Given the description of an element on the screen output the (x, y) to click on. 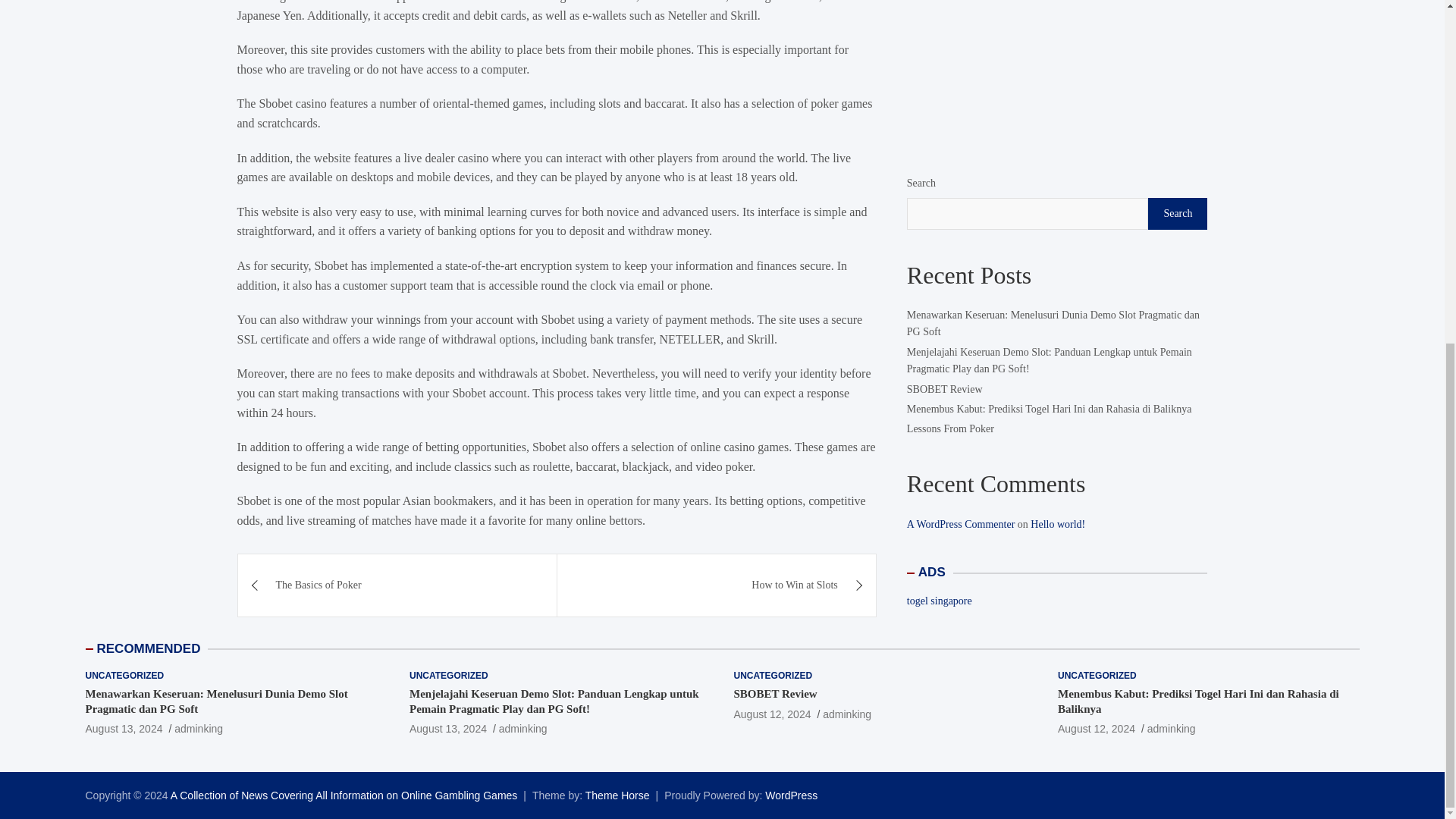
August 13, 2024 (447, 728)
How to Win at Slots (716, 585)
RECOMMENDED (148, 648)
SBOBET Review (771, 714)
adminking (198, 728)
WordPress (790, 795)
UNCATEGORIZED (123, 676)
UNCATEGORIZED (772, 676)
